Given the description of an element on the screen output the (x, y) to click on. 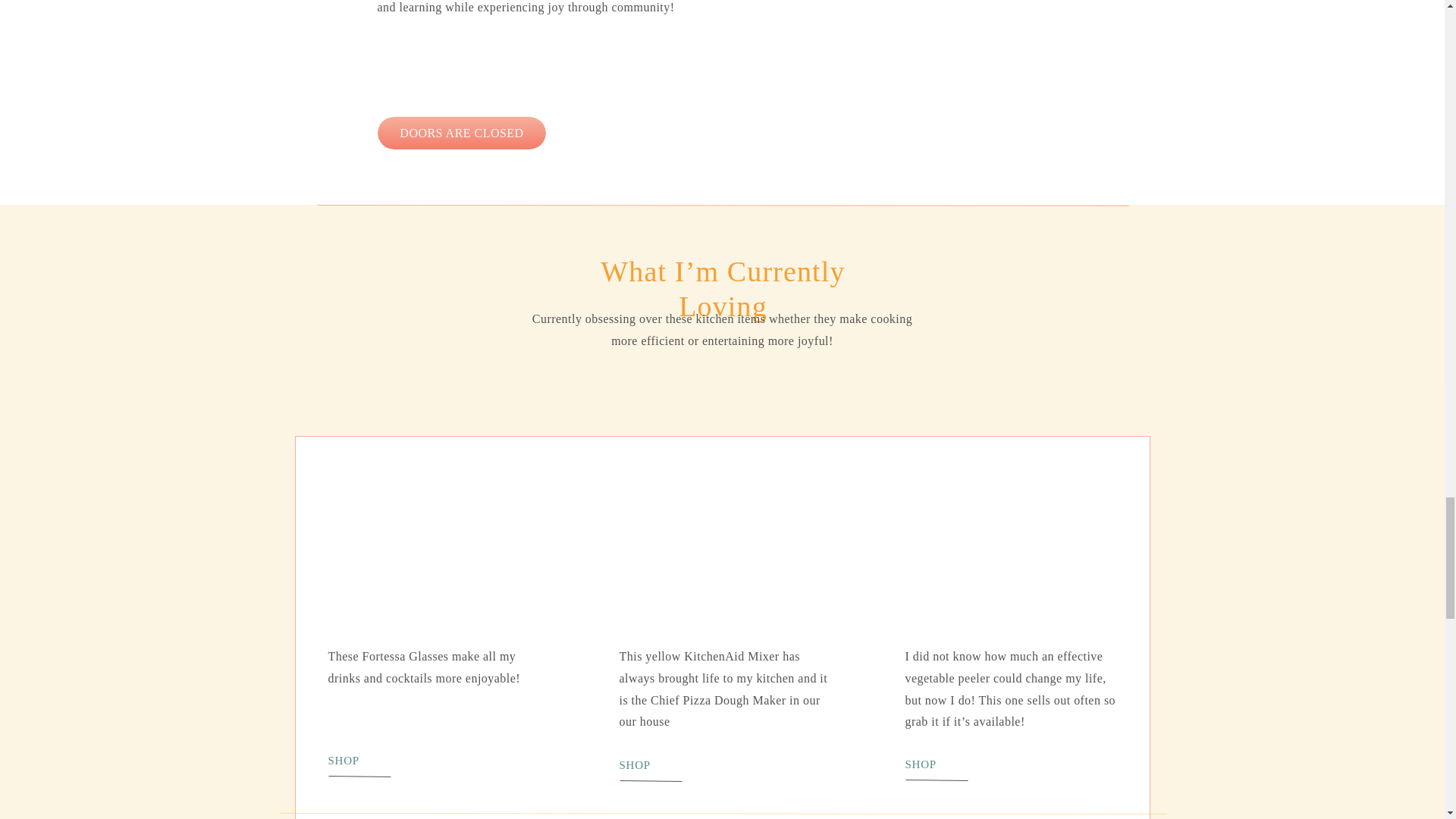
SHOP (382, 759)
SHOP (673, 764)
SHOP (960, 763)
